Given the description of an element on the screen output the (x, y) to click on. 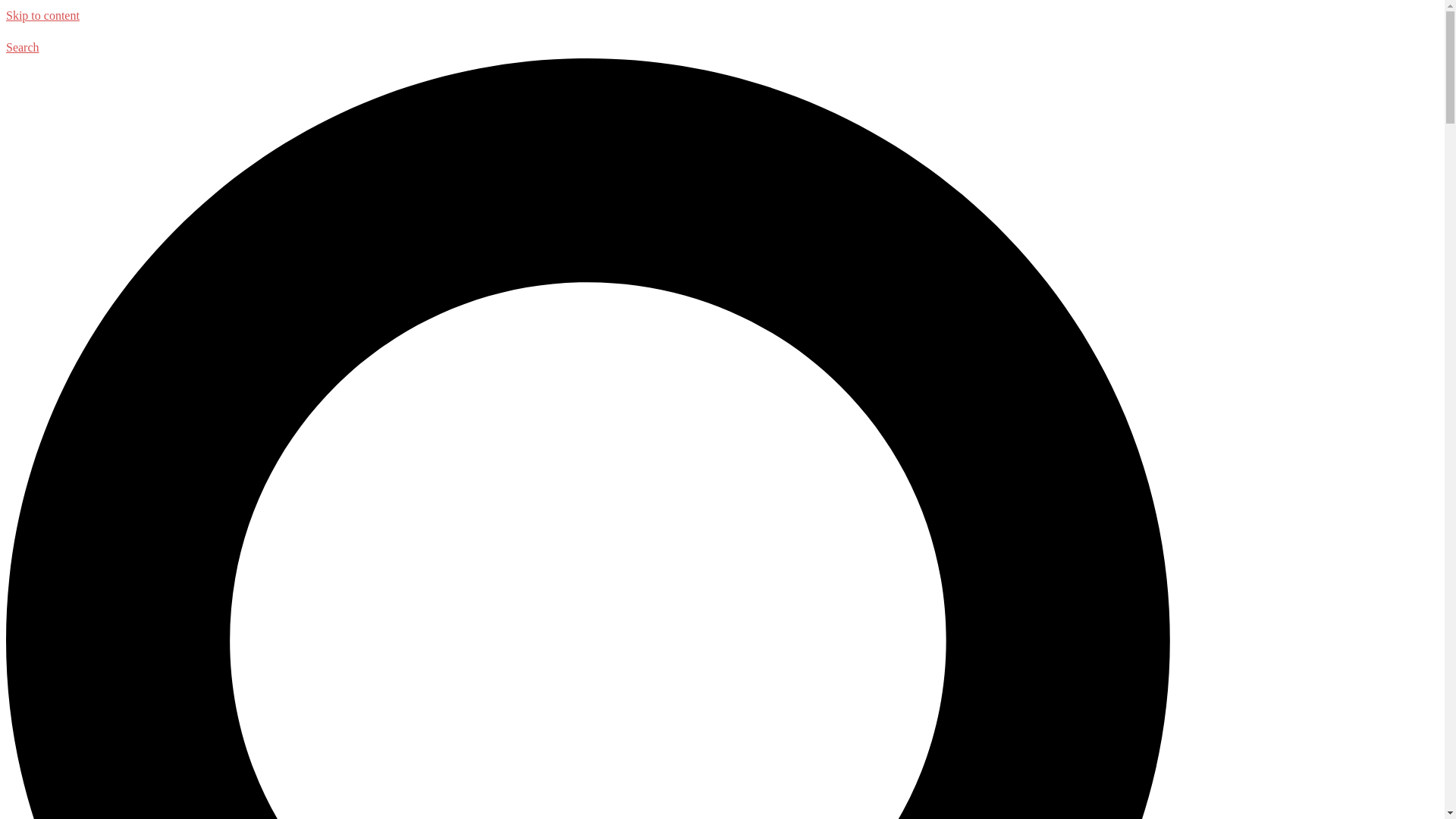
Skip to content (42, 15)
